Given the description of an element on the screen output the (x, y) to click on. 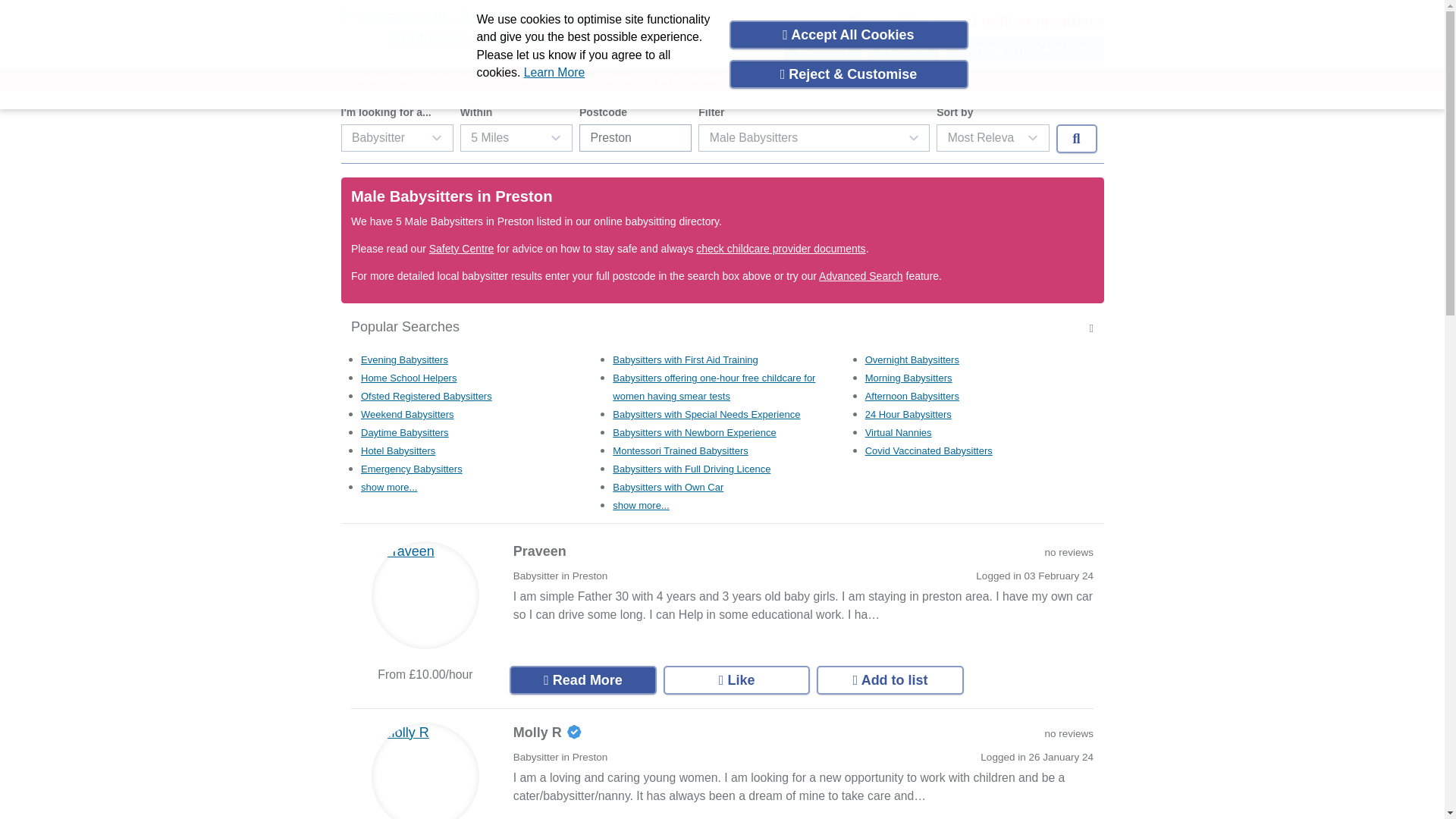
Babysitters with First Aid Training (684, 359)
Evening Babysitters (404, 359)
Childcare Jobs (944, 79)
Montessori Trained Babysitters (680, 450)
Schools (879, 79)
Create a free Account (1023, 48)
show more... (388, 487)
Nannies (517, 79)
Log in (903, 48)
Babysitters with Full Driving Licence (691, 469)
